Given the description of an element on the screen output the (x, y) to click on. 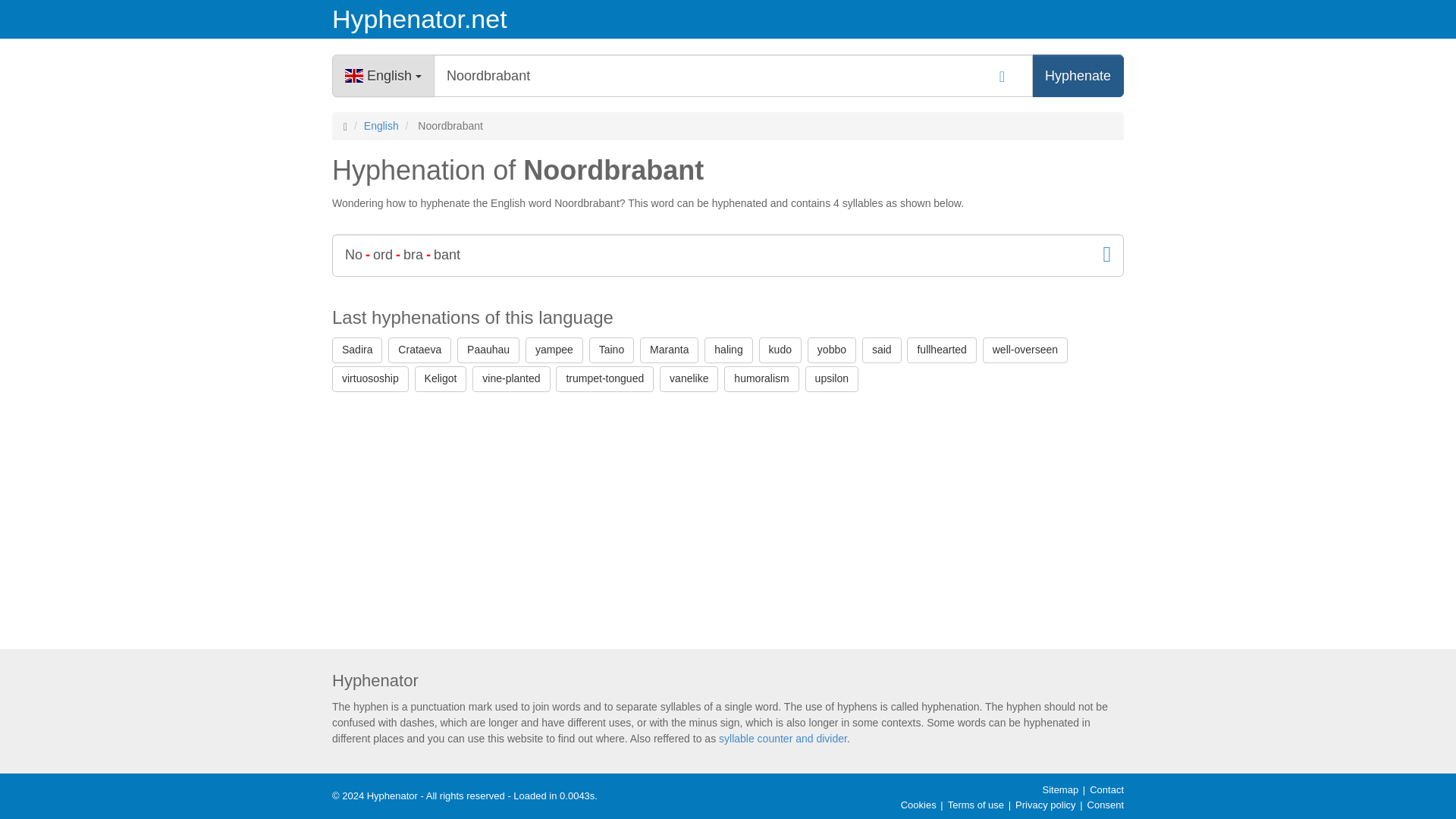
well-overseen (1024, 350)
yobbo (832, 350)
English (381, 125)
trumpet-tongued (604, 379)
humoralism (760, 379)
Paauhau (488, 350)
English (382, 75)
Taino (611, 350)
Sadira (356, 350)
Hyphenate (1078, 75)
Maranta (669, 350)
Hyphenator.net (458, 19)
vine-planted (510, 379)
fullhearted (941, 350)
Noordbrabant (732, 75)
